Given the description of an element on the screen output the (x, y) to click on. 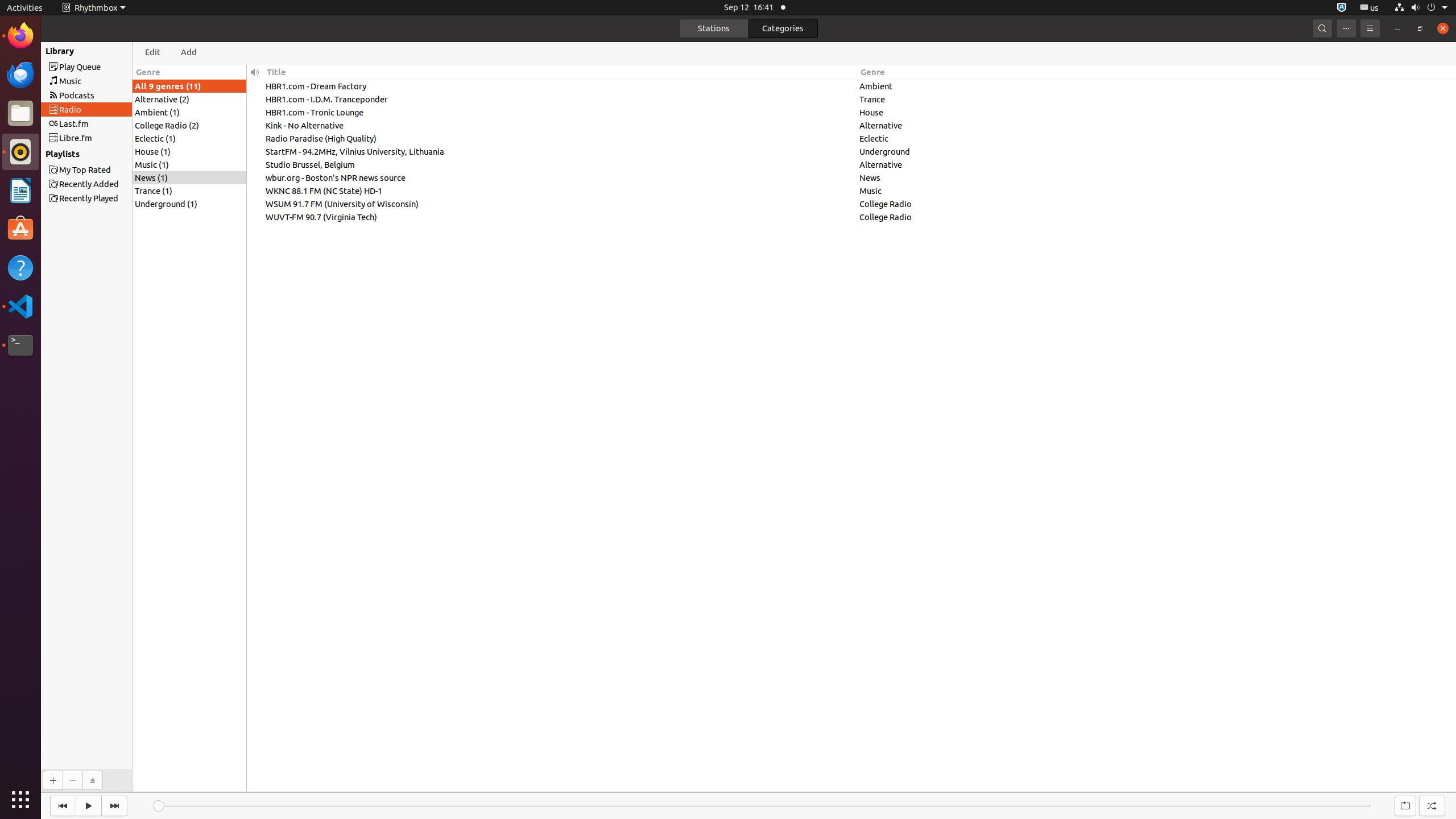
Ambient Element type: table-cell (1156, 86)
HBR1.com - I.D.M. Tranceponder Element type: table-cell (559, 99)
Trance Element type: table-cell (1156, 99)
luyi1 Element type: label (75, 50)
Music Element type: table-cell (106, 80)
